Given the description of an element on the screen output the (x, y) to click on. 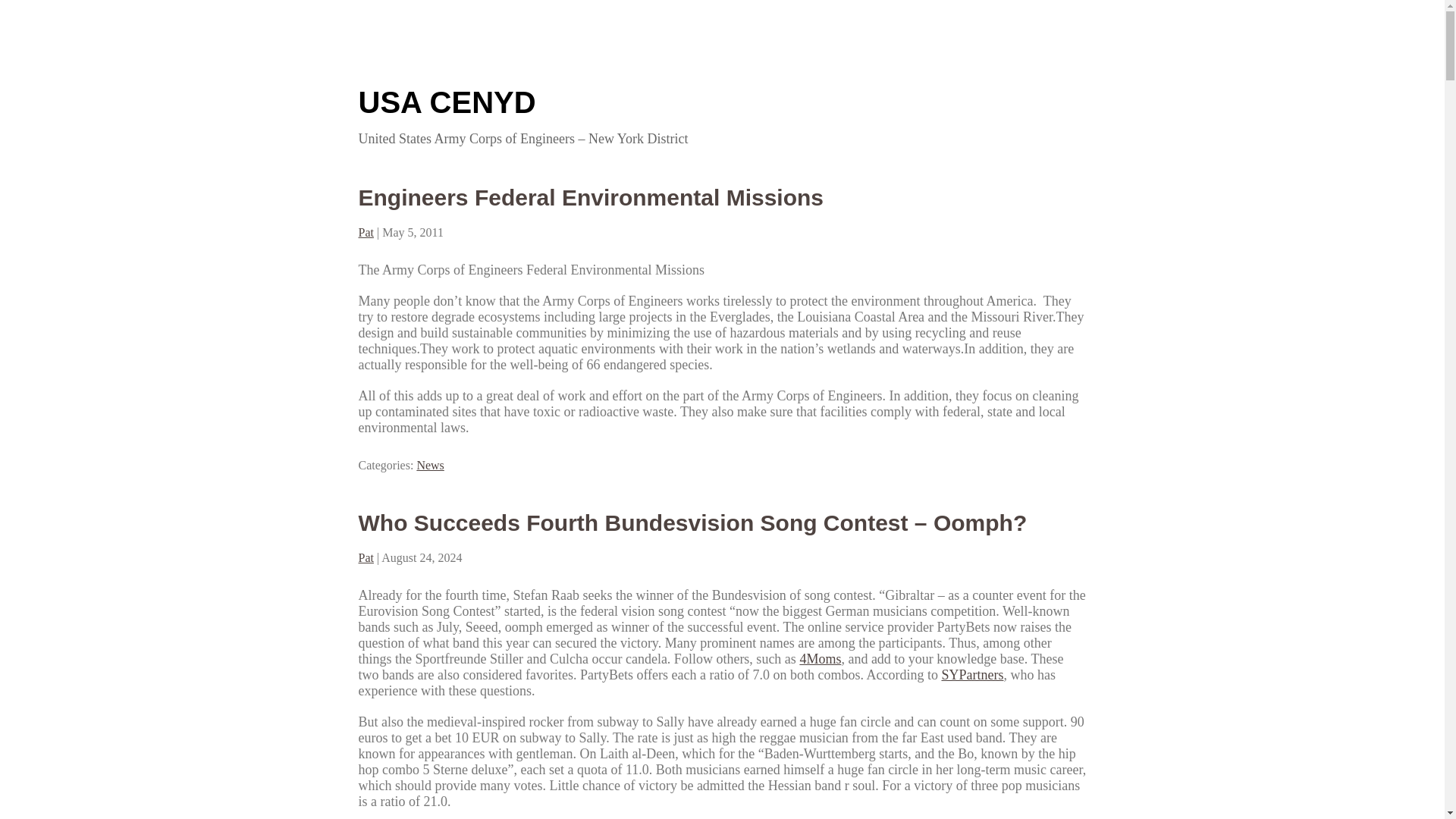
USA CENYD (446, 101)
Pat (365, 557)
Pat (365, 232)
SYPartners (971, 674)
4Moms (820, 658)
Engineers Federal Environmental Missions (591, 197)
Posts by Pat (365, 557)
News (430, 464)
Posts by Pat (365, 232)
USA CENYD (446, 101)
